Given the description of an element on the screen output the (x, y) to click on. 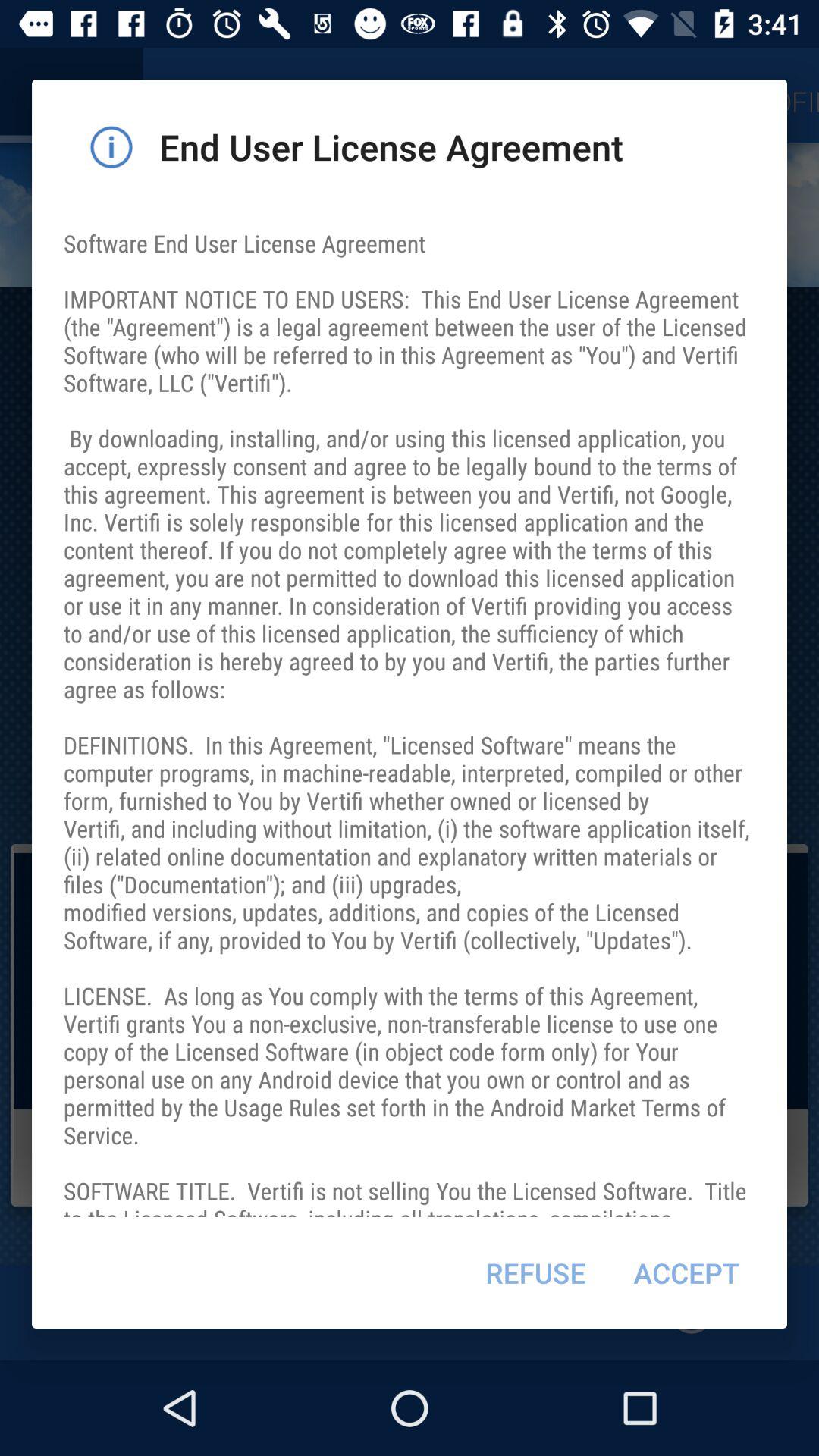
turn on icon to the left of accept (535, 1272)
